Given the description of an element on the screen output the (x, y) to click on. 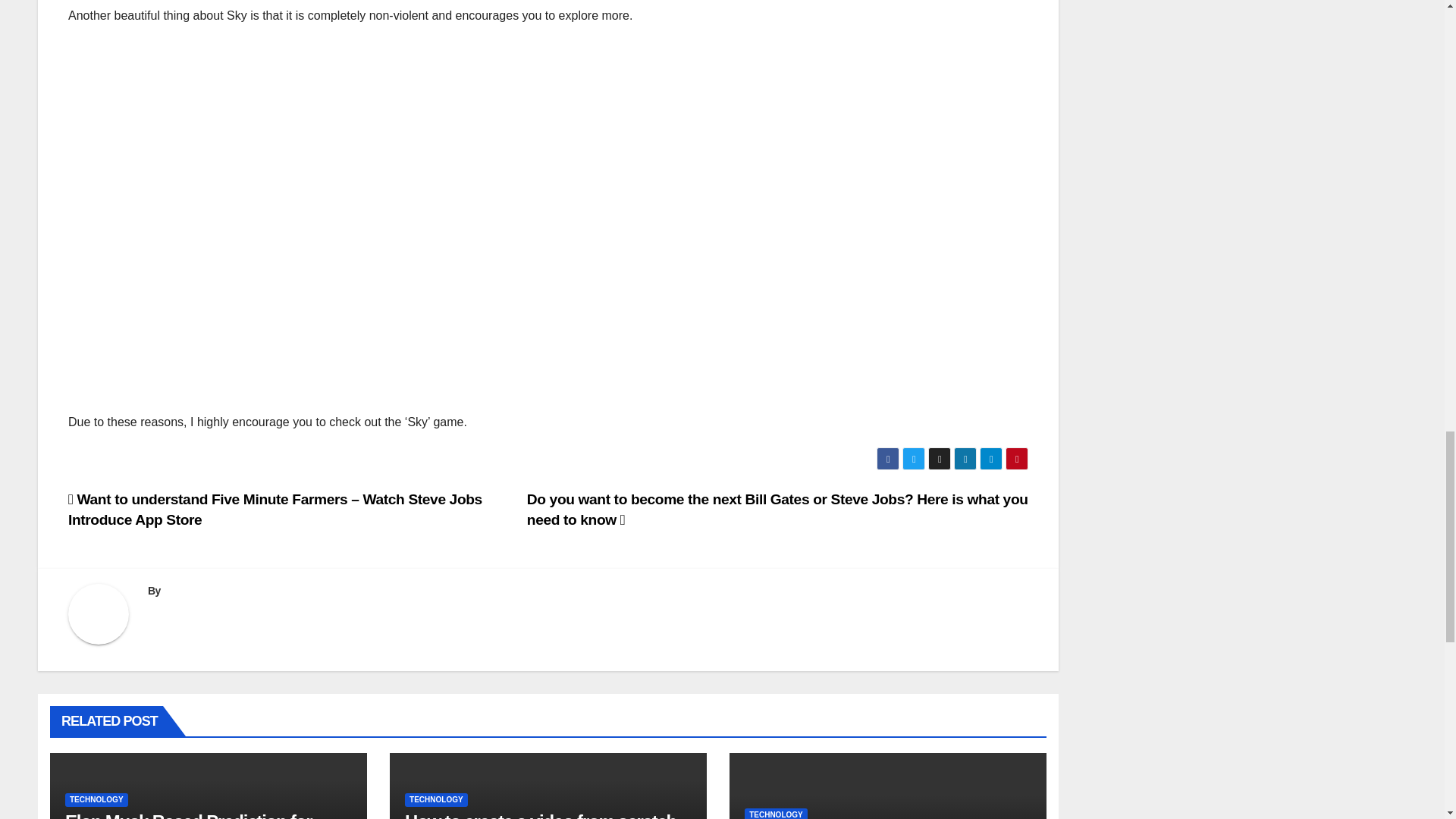
Elon Musk Based Prediction for 2025 (188, 815)
TECHNOLOGY (96, 799)
Permalink to: Elon Musk Based Prediction for 2025 (188, 815)
